Given the description of an element on the screen output the (x, y) to click on. 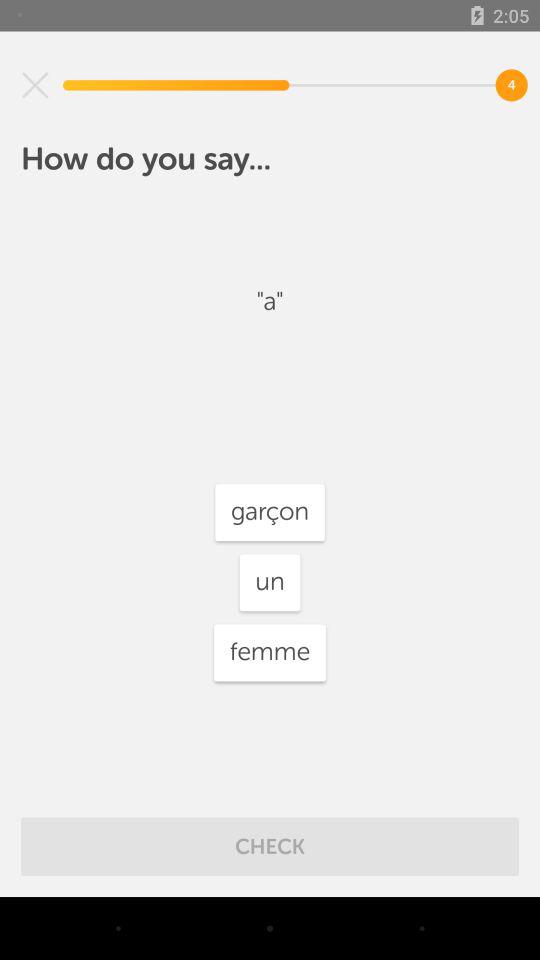
jump to check item (270, 846)
